Given the description of an element on the screen output the (x, y) to click on. 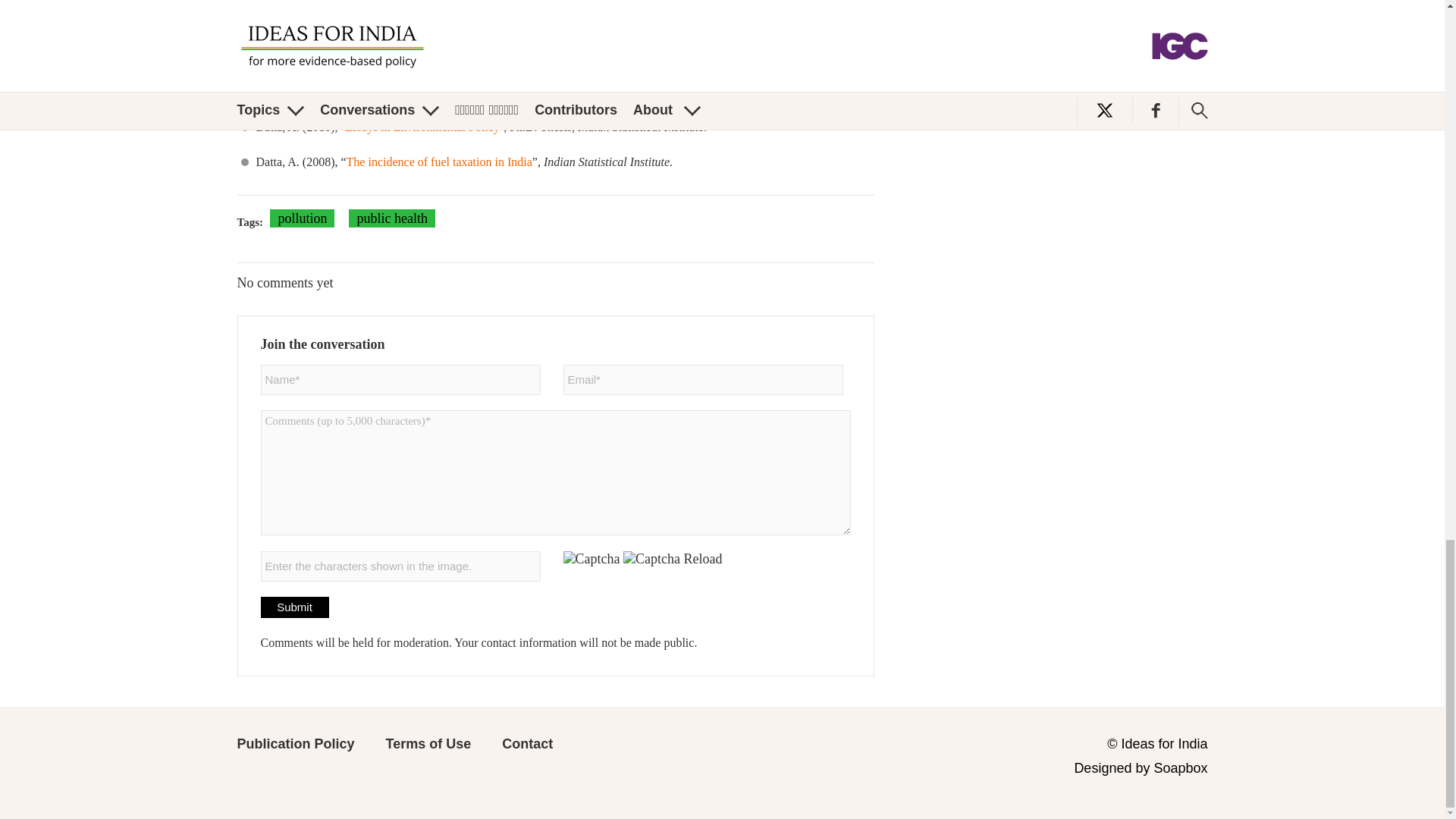
Captcha Reload (672, 559)
Submit (1155, 8)
Submit (1155, 8)
Verification code (400, 566)
Submit (294, 607)
